Given the description of an element on the screen output the (x, y) to click on. 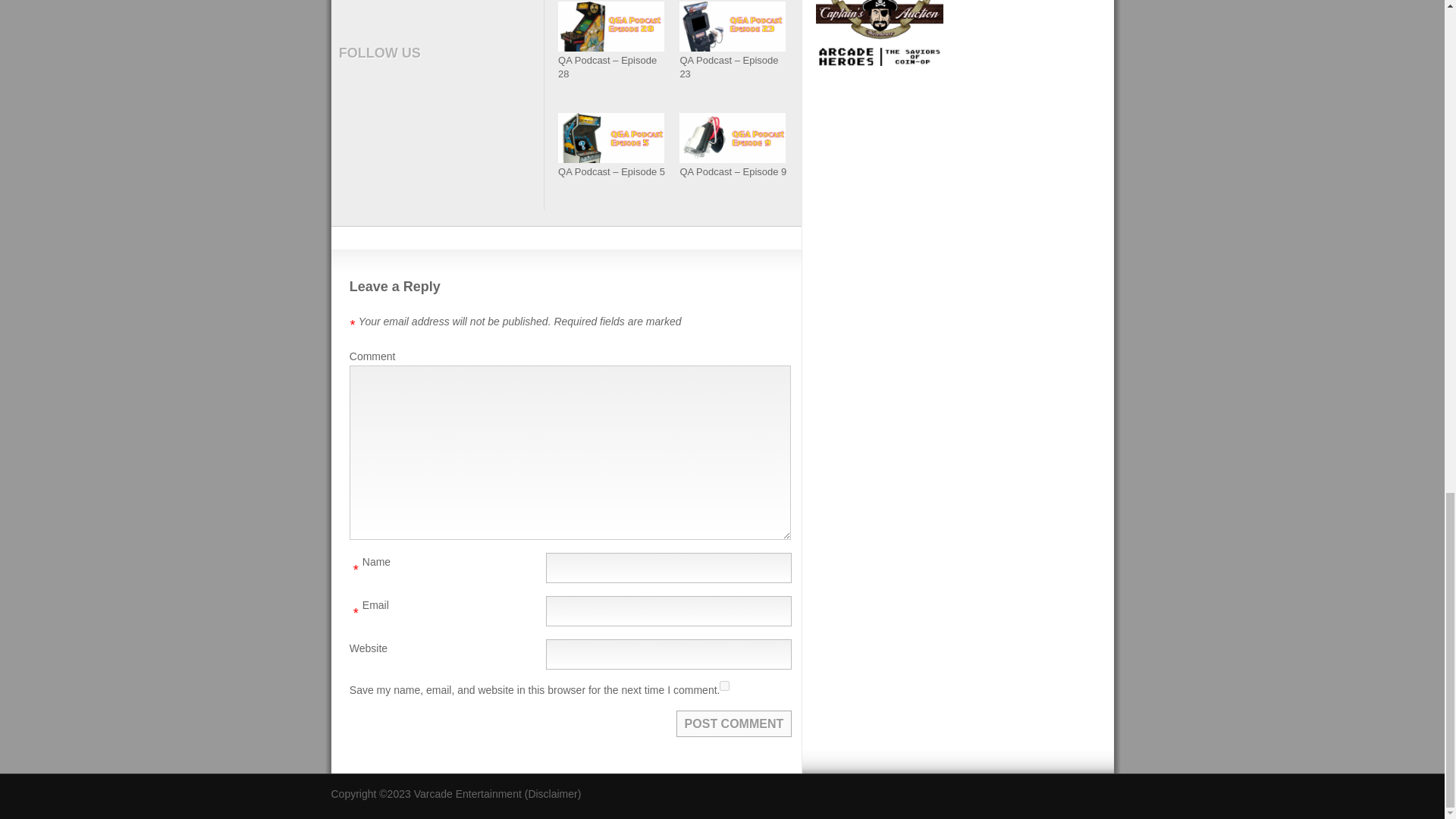
yes (724, 685)
Post Comment (734, 723)
Post Comment (734, 723)
